Given the description of an element on the screen output the (x, y) to click on. 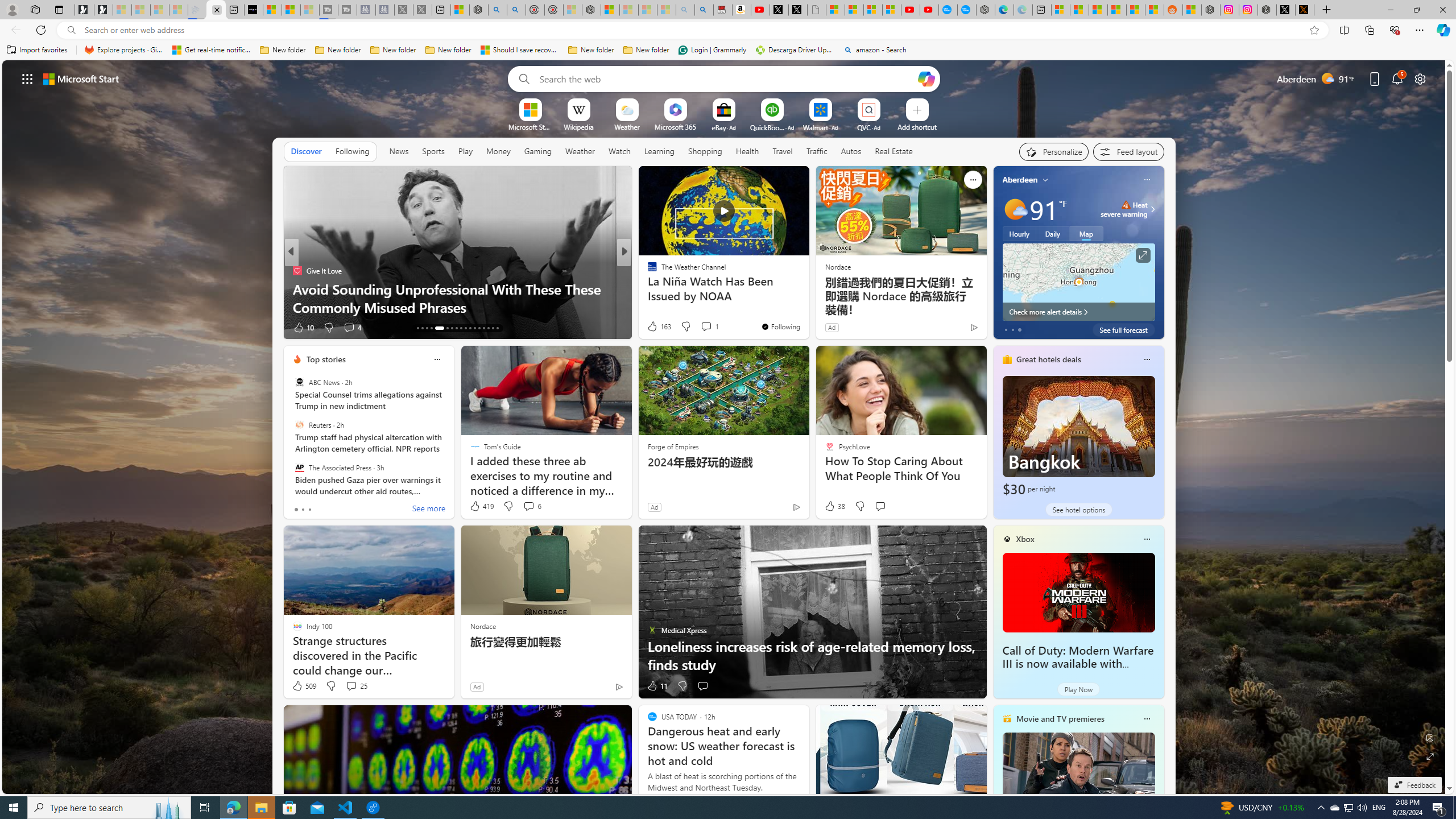
View comments 1 Comment (709, 326)
View comments 25 Comment (350, 685)
Travel (782, 151)
AutomationID: tab-14 (422, 328)
Bangkok (1077, 436)
Nordace - Nordace Siena Is Not An Ordinary Backpack (590, 9)
